Given the description of an element on the screen output the (x, y) to click on. 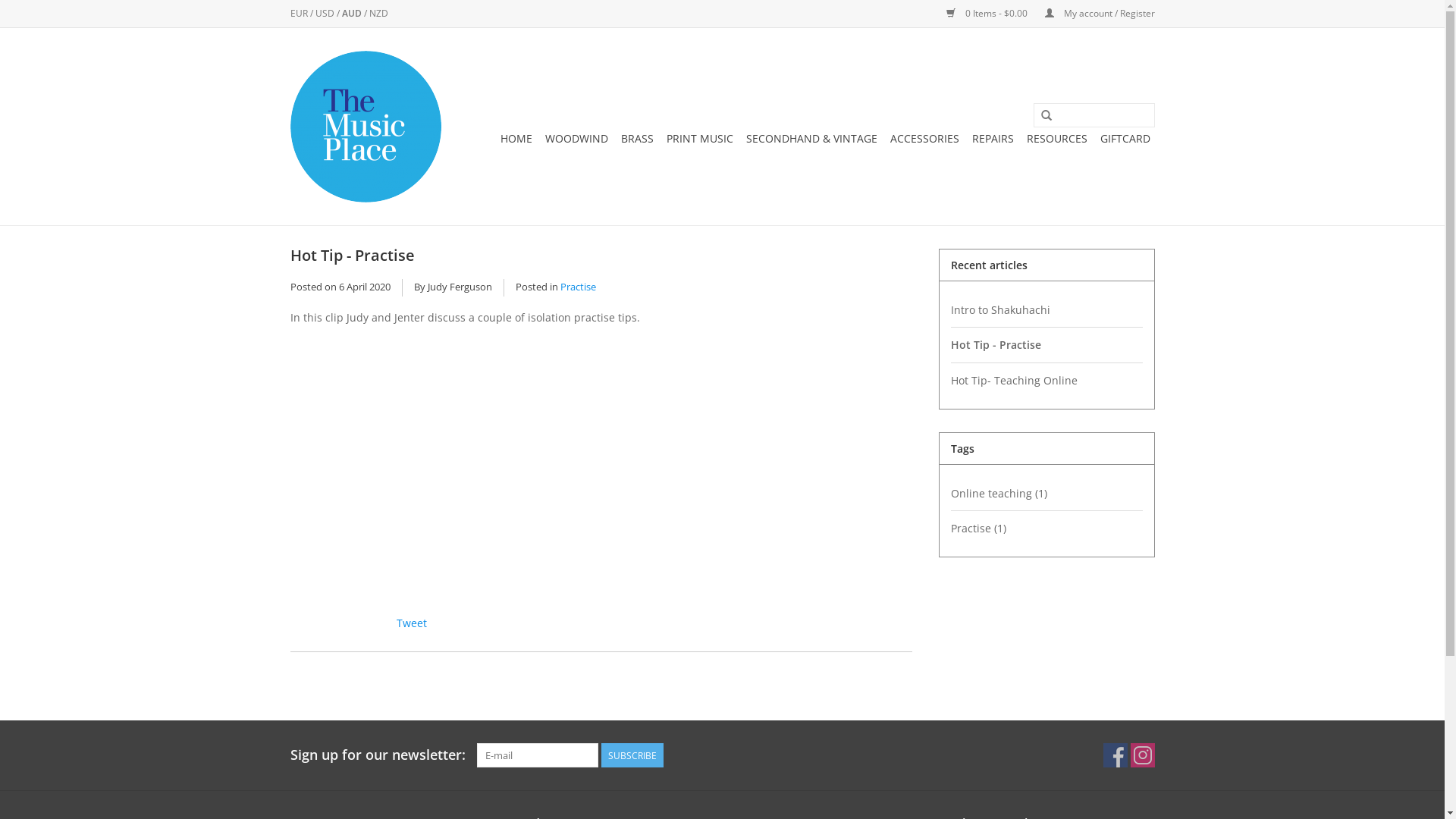
REPAIRS Element type: text (992, 137)
HOME Element type: text (515, 137)
SECONDHAND & VINTAGE Element type: text (811, 137)
Hot Tip - Practise Element type: text (351, 254)
RESOURCES Element type: text (1057, 137)
Instagram The Music Place Element type: hover (1141, 755)
WOODWIND Element type: text (575, 137)
ACCESSORIES Element type: text (924, 137)
Search Element type: hover (1045, 115)
SUBSCRIBE Element type: text (631, 755)
Facebook Element type: hover (425, 622)
USD Element type: text (325, 12)
My account / Register Element type: text (1091, 12)
Hot Tip- Teaching Online Element type: text (1046, 380)
0 Items - $0.00 Element type: text (980, 12)
Tweet Element type: text (410, 622)
PRINT MUSIC Element type: text (699, 137)
Practise (1) Element type: text (1046, 528)
Online teaching (1) Element type: text (1046, 493)
EUR Element type: text (299, 12)
AUD Element type: text (352, 12)
Practise Element type: text (577, 286)
BRASS Element type: text (636, 137)
NZD Element type: text (377, 12)
GIFTCARD Element type: text (1124, 137)
Intro to Shakuhachi Element type: text (1046, 309)
Hot Tip - Practise Element type: text (1046, 344)
